Given the description of an element on the screen output the (x, y) to click on. 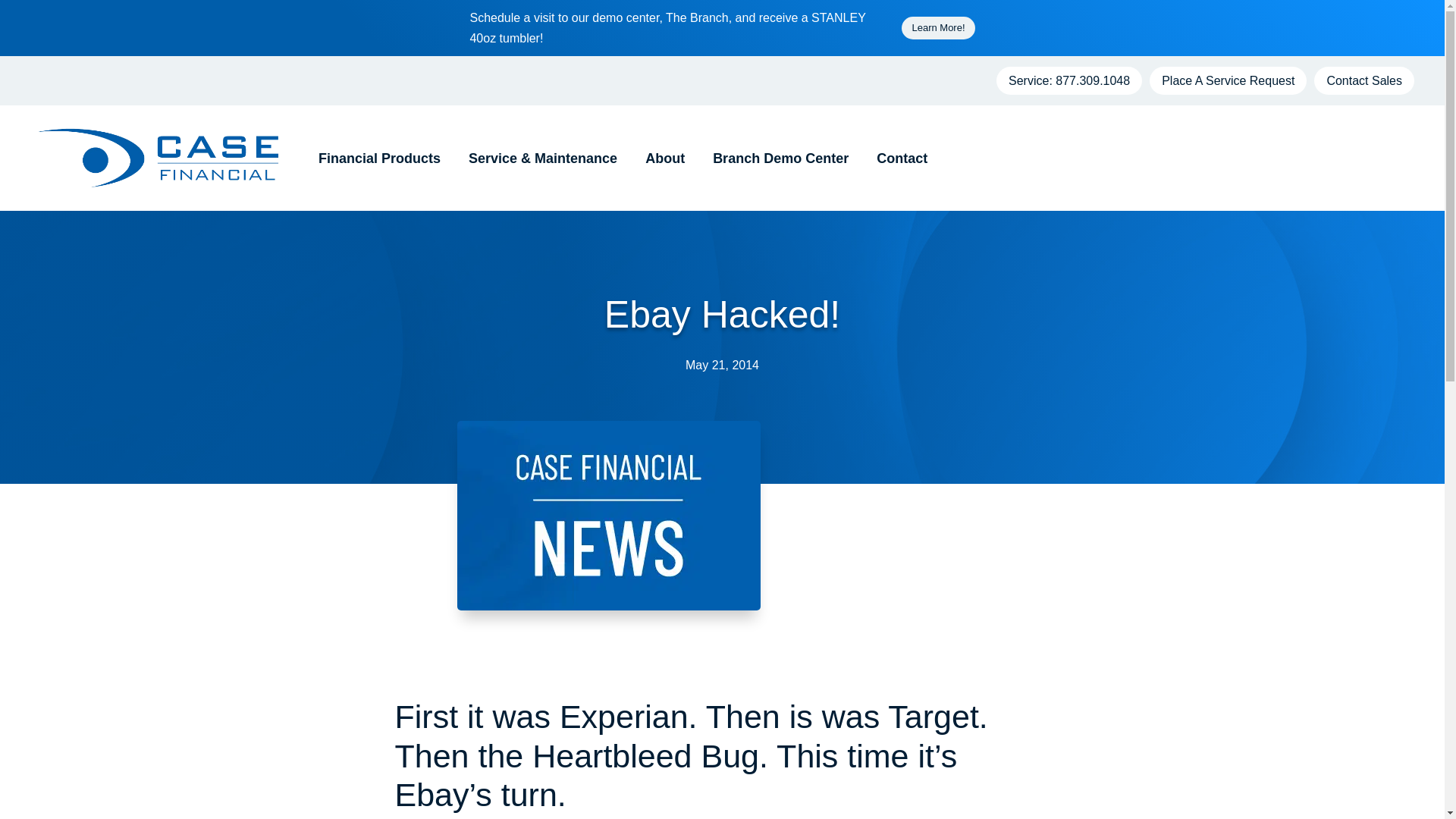
Branch Demo Center (774, 158)
Service: 877.309.1048 (1068, 80)
Place A Service Request (1228, 80)
Contact (895, 158)
Contact Sales (1363, 80)
Financial Products (374, 158)
Learn More! (937, 27)
Case Financial General News Photo (608, 515)
